Given the description of an element on the screen output the (x, y) to click on. 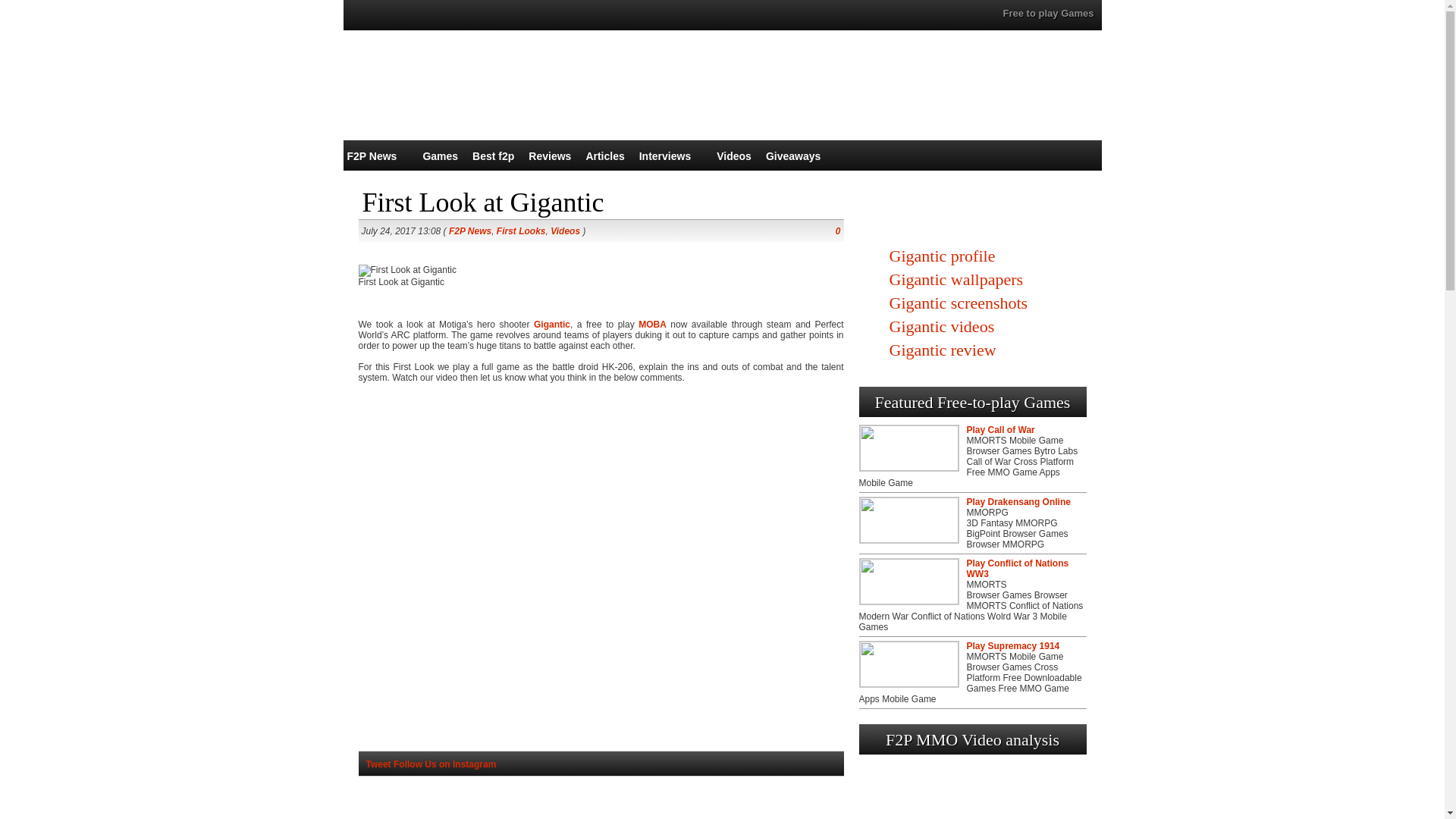
Play Call of War (999, 429)
Gigantic (552, 324)
Advertisement (600, 800)
Play Gigantic (972, 212)
F2P News (470, 231)
Interviews (664, 155)
F2P News (372, 155)
Play Conflict of Nations WW3 (1017, 568)
Play Supremacy 1914 (1012, 645)
MOBA Games (652, 324)
Tweet (377, 764)
Free to play Games (1048, 12)
Play Gigantic (972, 212)
MOBA (652, 324)
Giveaways (793, 155)
